Given the description of an element on the screen output the (x, y) to click on. 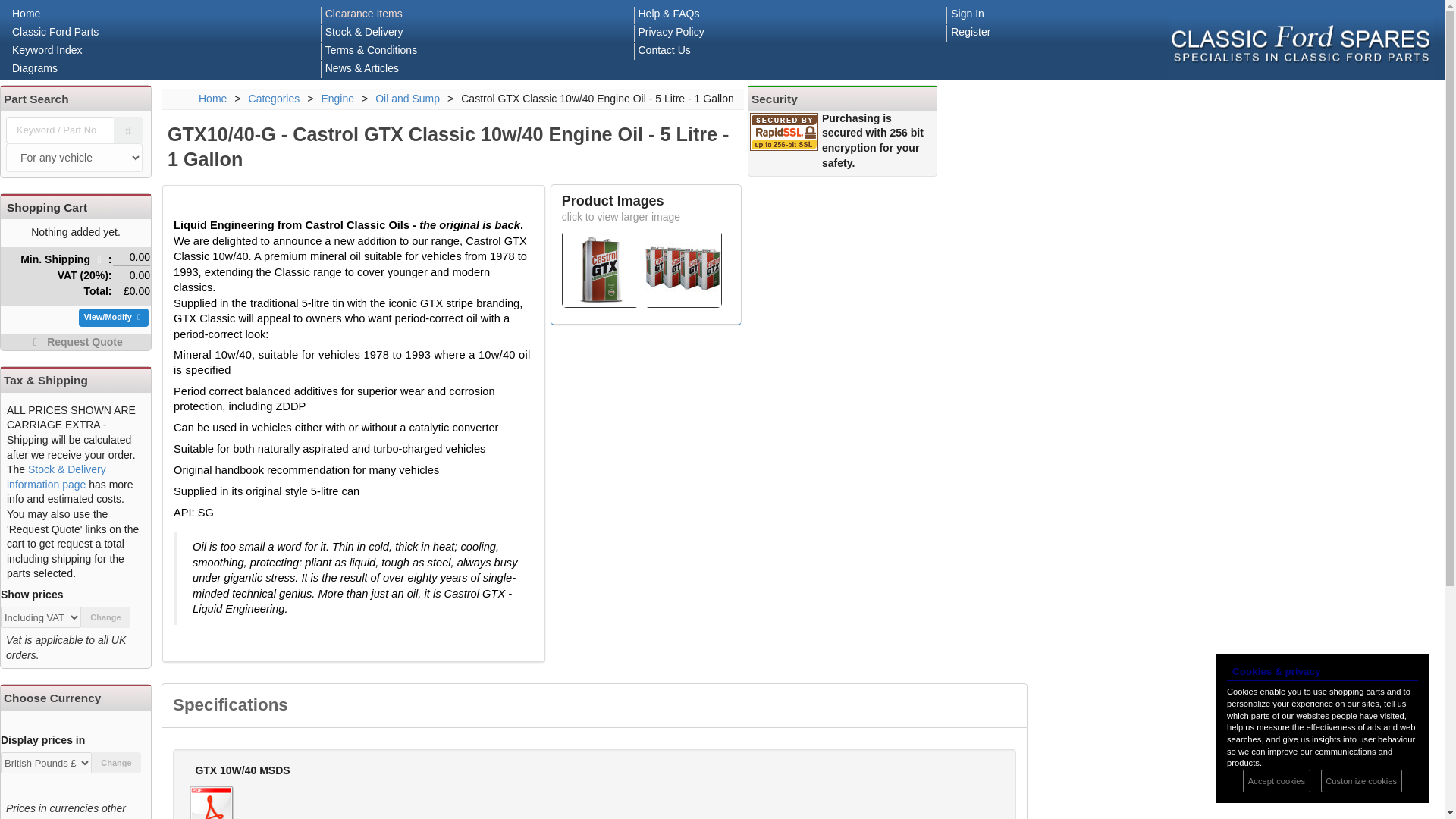
Categories (273, 98)
Accept cookies (1275, 780)
Sign In (967, 13)
Oil and Sump - Engine - Classic Ford Parts (407, 98)
Change (116, 762)
Contact Us (664, 50)
Clearance Parts - Classic Ford Parts (363, 13)
Classic car parts for all classic, veteran and vintage cars (25, 13)
Index (46, 50)
Change (106, 617)
Keyword Index (46, 50)
Classic car parts for all classic, veteran and vintage cars (212, 98)
Engine (336, 98)
Privacy Policy (671, 31)
Shopping Cart (47, 206)
